Given the description of an element on the screen output the (x, y) to click on. 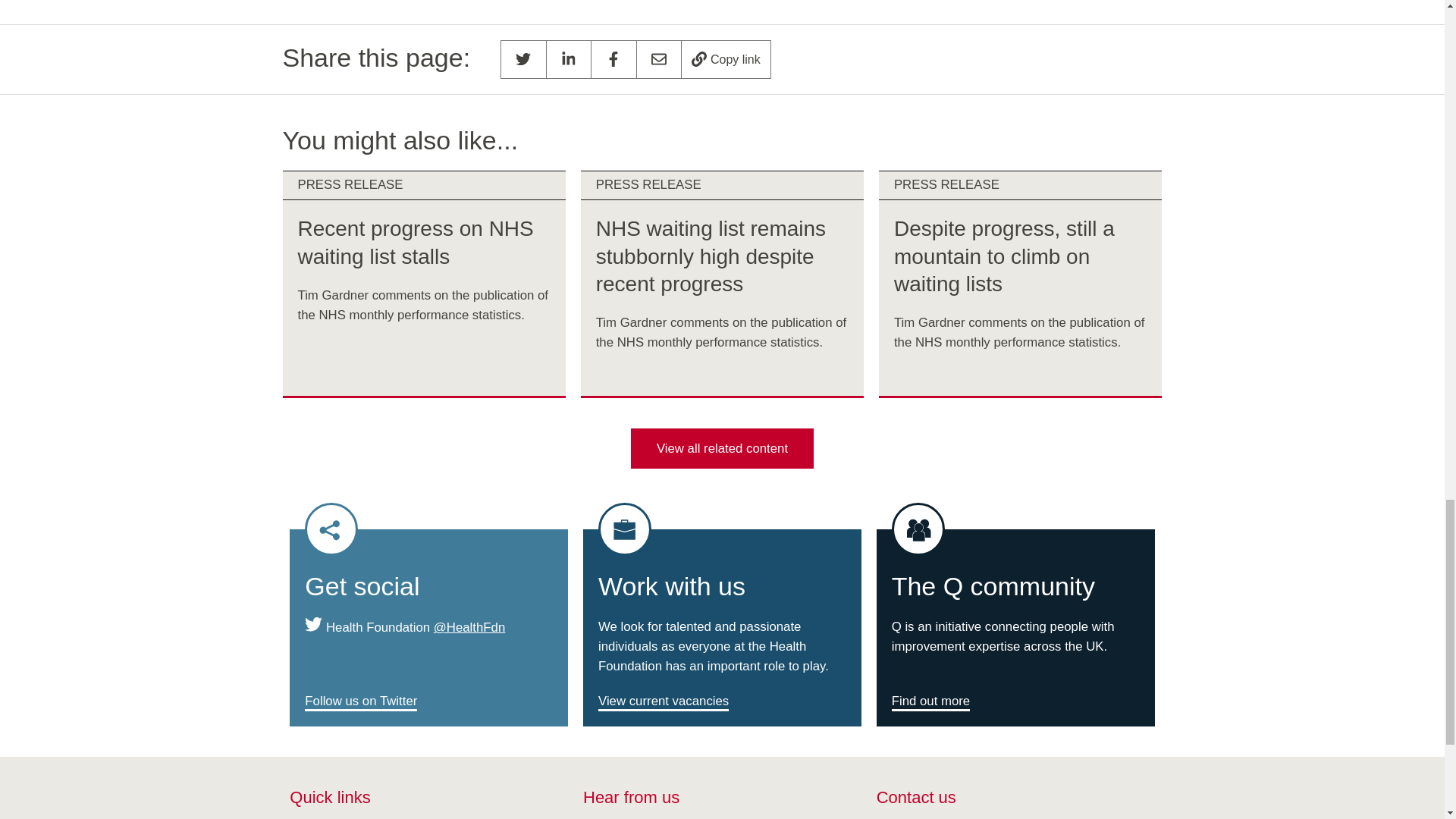
Share by Email (659, 58)
